Given the description of an element on the screen output the (x, y) to click on. 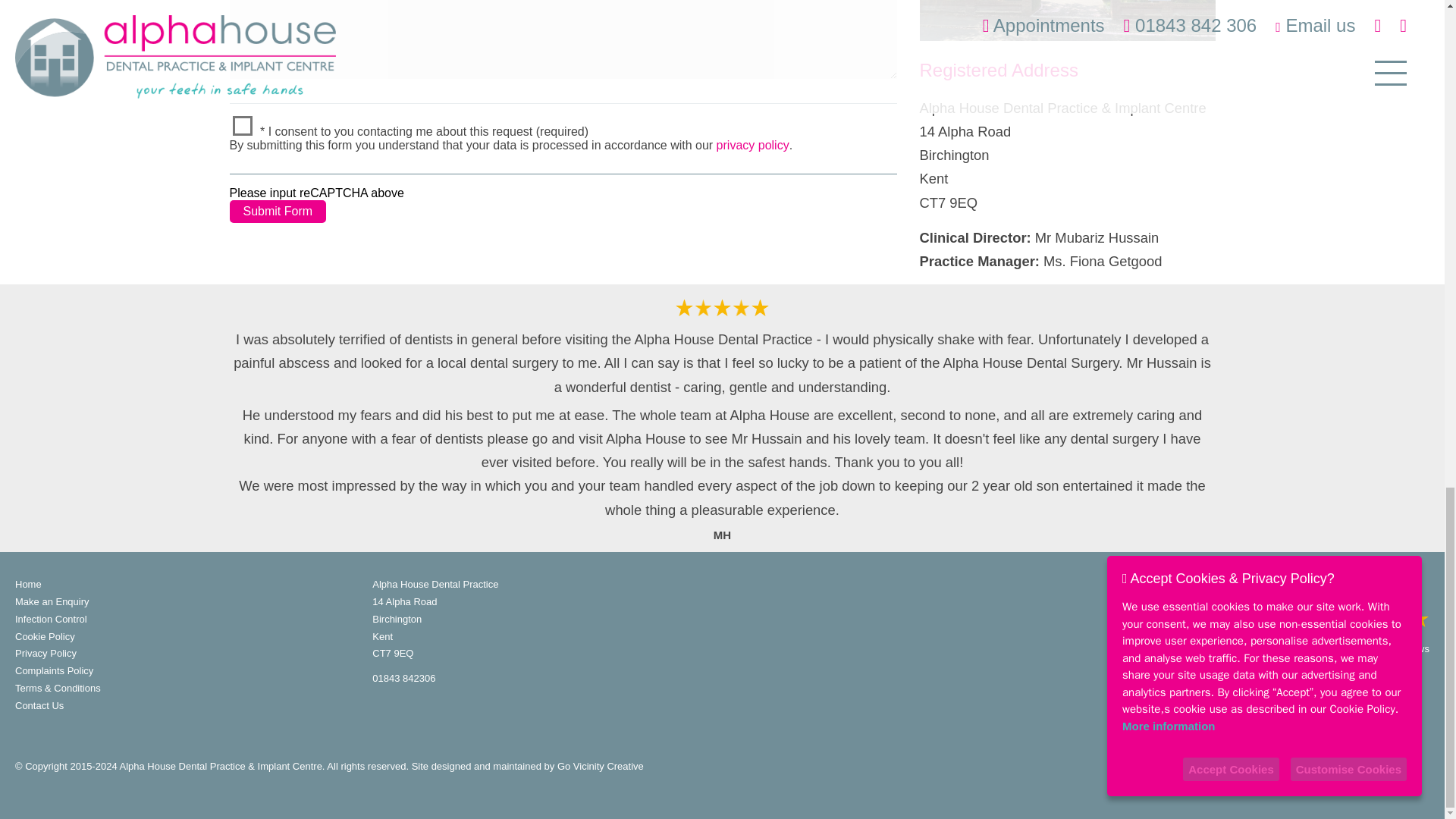
Submit Form (277, 210)
